Given the description of an element on the screen output the (x, y) to click on. 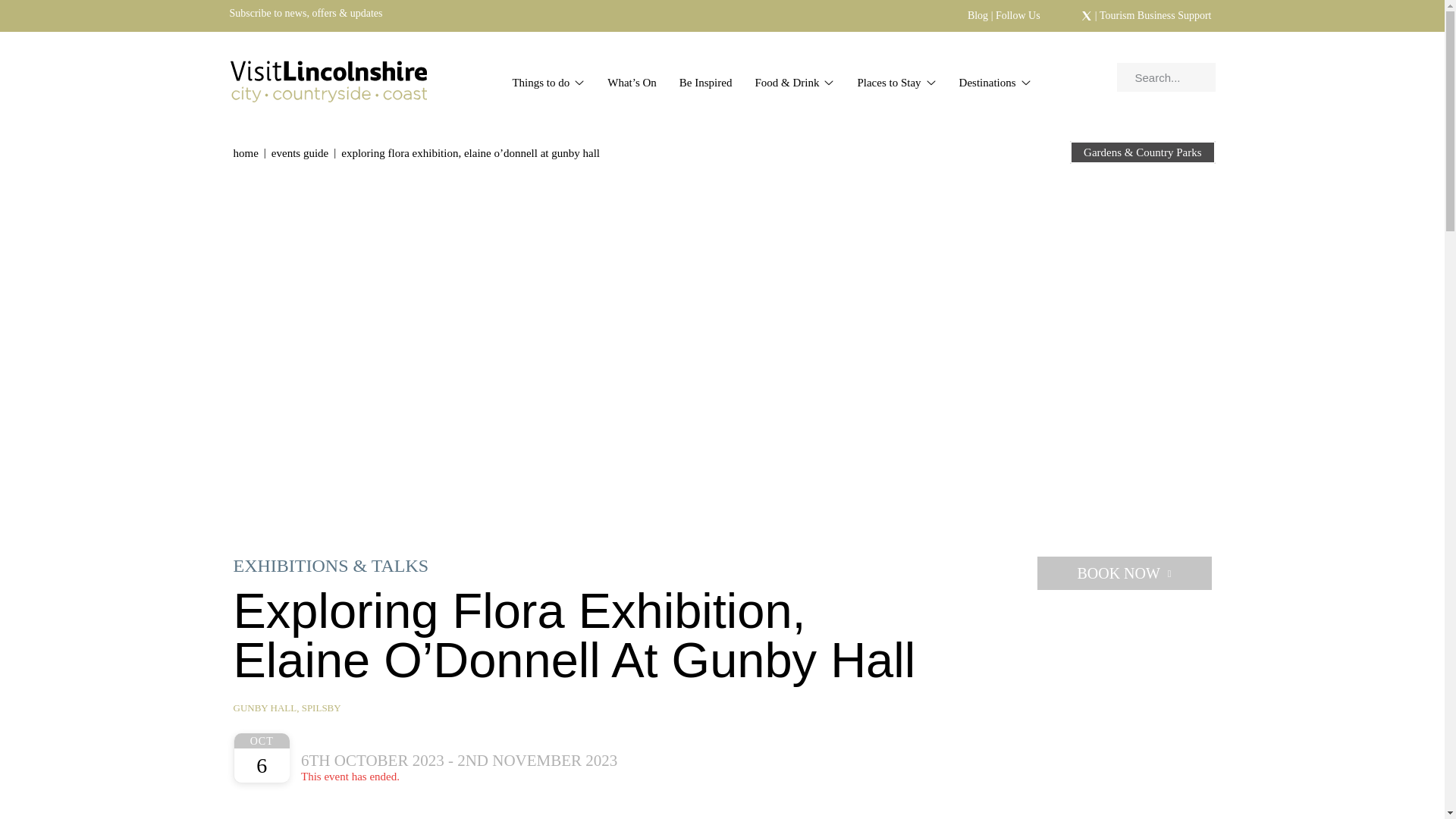
Visit Lincolnshire (327, 76)
Be Inspired (706, 82)
Search (1170, 77)
Things to do (547, 82)
